Given the description of an element on the screen output the (x, y) to click on. 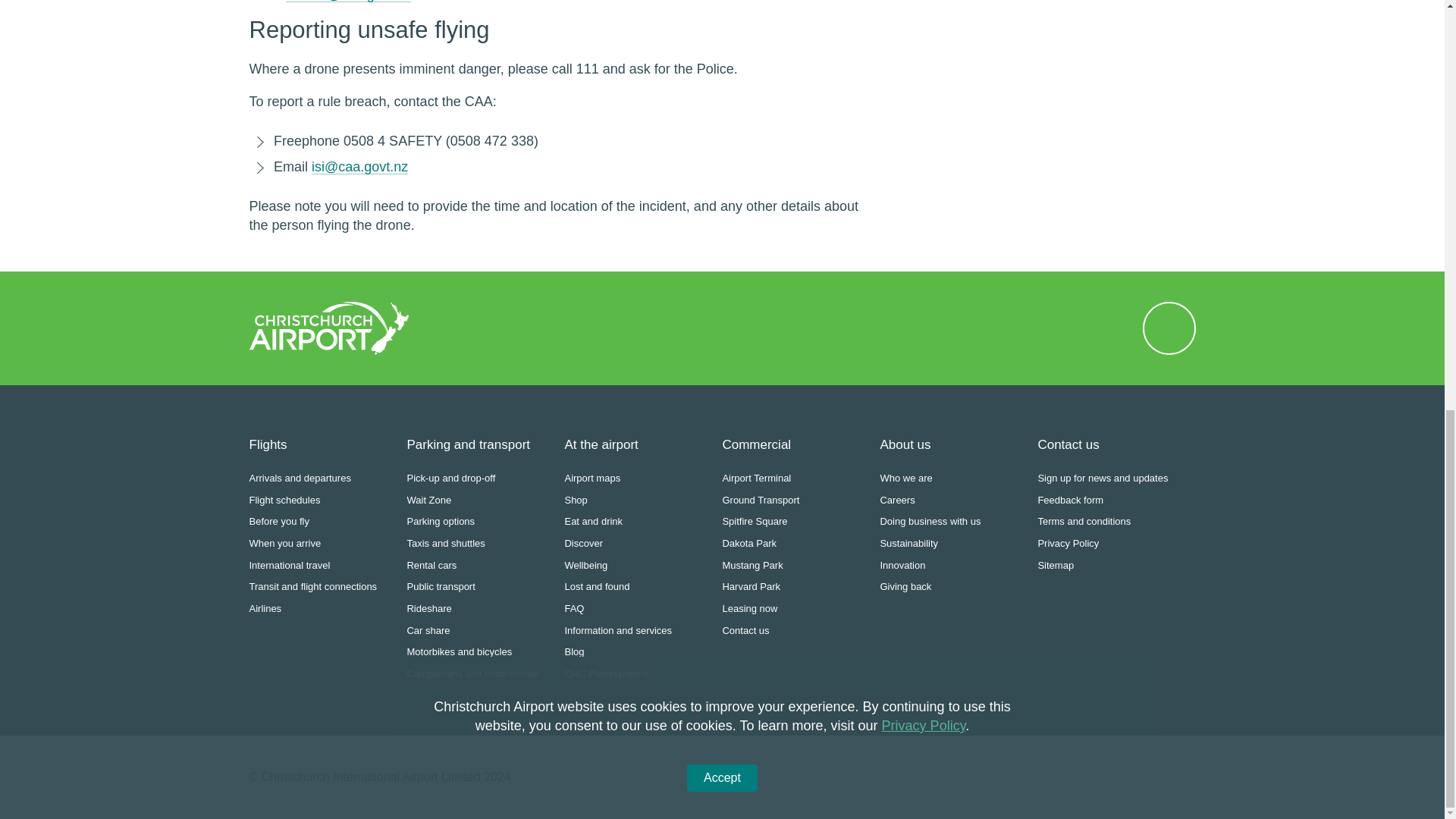
Drones email (347, 1)
CAA email (359, 166)
